Given the description of an element on the screen output the (x, y) to click on. 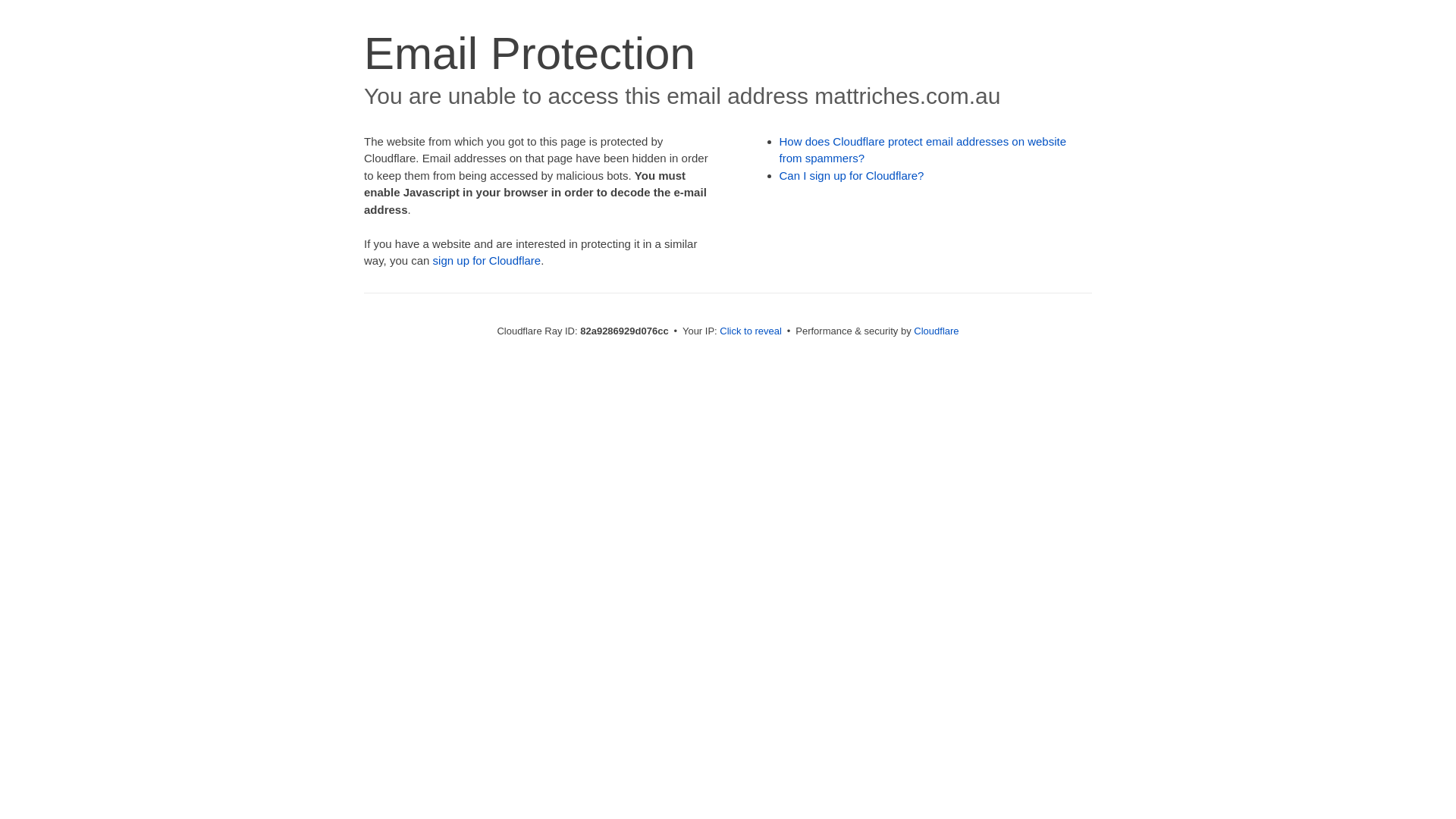
Cloudflare Element type: text (935, 330)
Click to reveal Element type: text (750, 330)
Can I sign up for Cloudflare? Element type: text (851, 175)
sign up for Cloudflare Element type: text (487, 260)
